Given the description of an element on the screen output the (x, y) to click on. 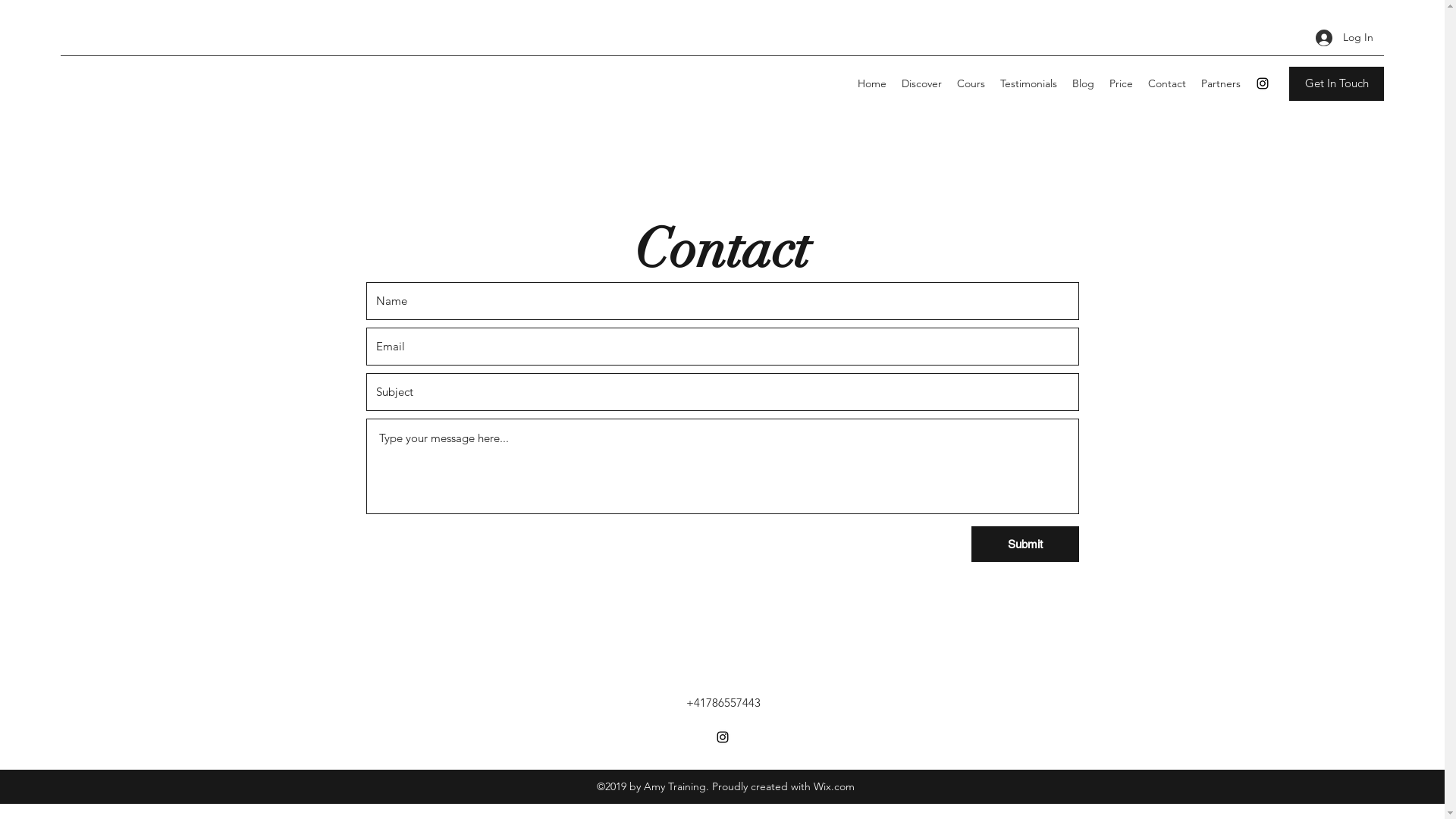
Blog Element type: text (1082, 83)
Log In Element type: text (1344, 37)
Contact Element type: text (1166, 83)
Submit Element type: text (1024, 543)
Cours Element type: text (970, 83)
Testimonials Element type: text (1028, 83)
Discover Element type: text (921, 83)
Home Element type: text (872, 83)
Partners Element type: text (1220, 83)
Price Element type: text (1120, 83)
